Given the description of an element on the screen output the (x, y) to click on. 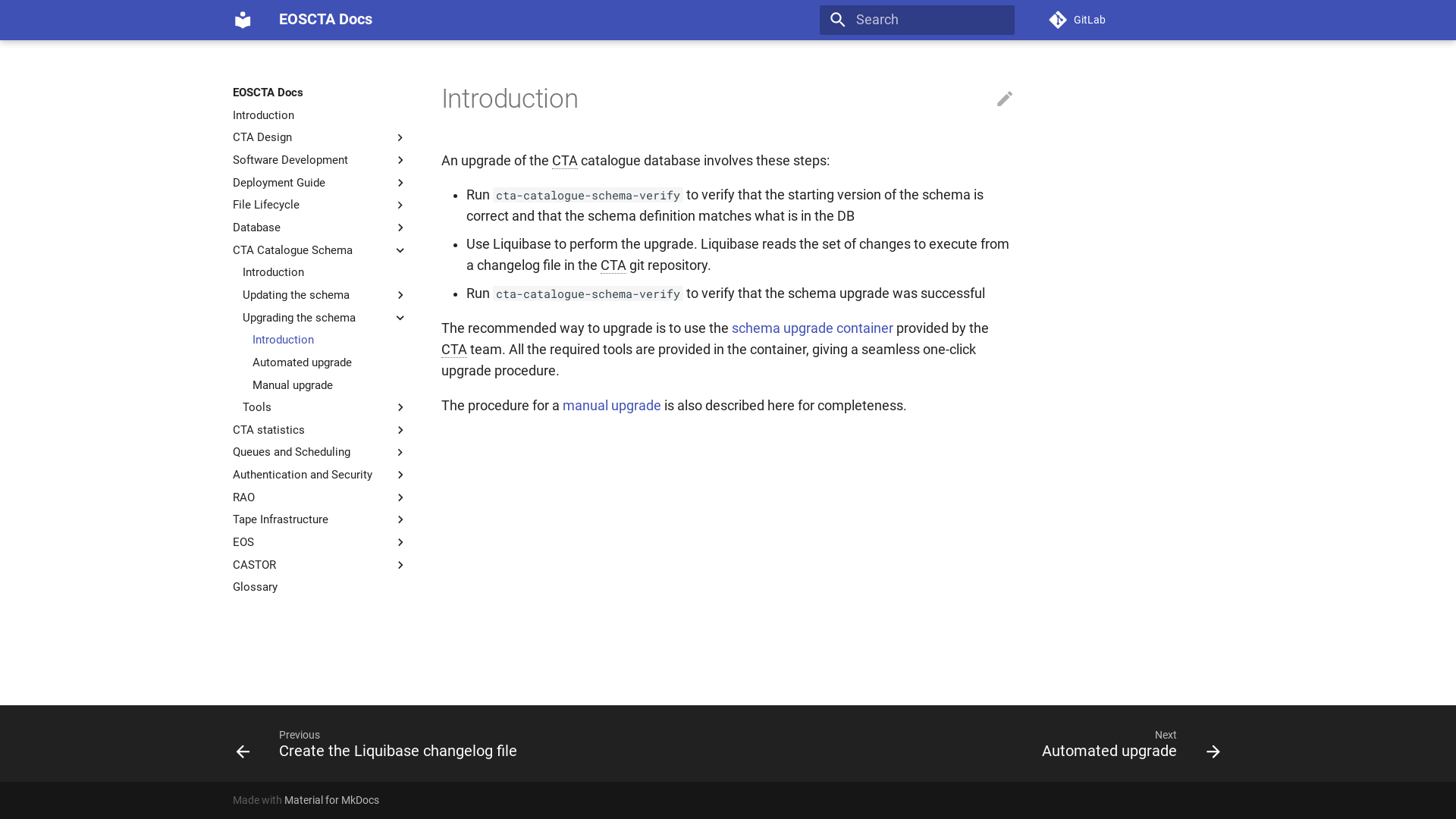
Introduction Element type: text (319, 114)
Introduction Element type: text (324, 271)
Introduction Element type: text (329, 339)
Material for MkDocs Element type: text (331, 799)
Automated upgrade Element type: text (329, 362)
schema upgrade container Element type: text (812, 327)
Glossary Element type: text (319, 586)
manual upgrade Element type: text (611, 405)
Manual upgrade Element type: text (329, 384)
GitLab Element type: text (1135, 20)
Previous
Create the Liquibase changelog file Element type: text (380, 743)
Next
Automated upgrade Element type: text (1126, 743)
EOSCTA Docs Element type: hover (242, 19)
Edit this page Element type: hover (1004, 98)
